Given the description of an element on the screen output the (x, y) to click on. 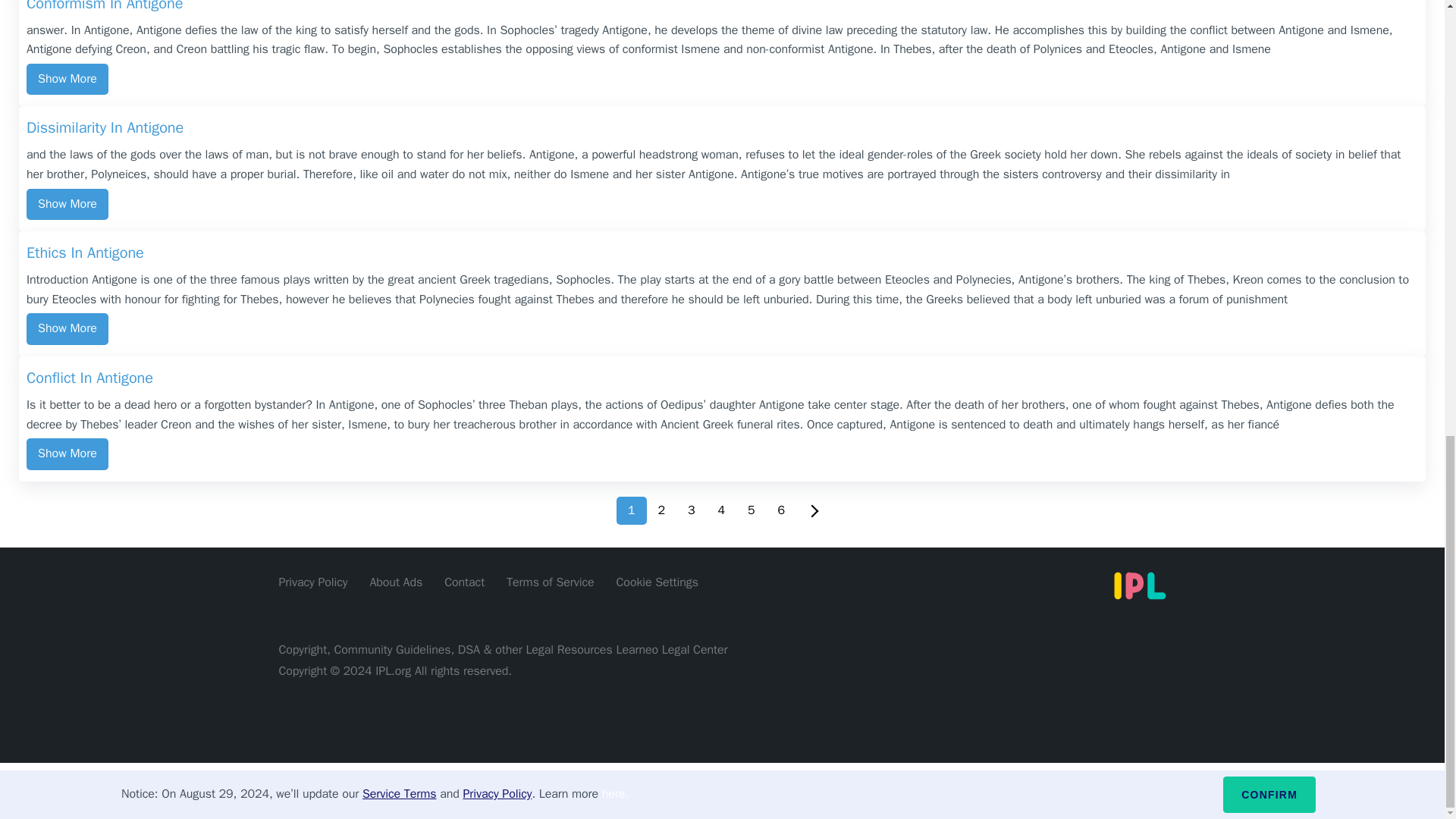
Show More (66, 454)
3 (691, 510)
Show More (66, 79)
Conflict In Antigone (722, 379)
Ethics In Antigone (722, 254)
Dissimilarity In Antigone (722, 129)
Show More (66, 328)
Conformism In Antigone (722, 8)
Show More (66, 204)
4 (721, 510)
